Given the description of an element on the screen output the (x, y) to click on. 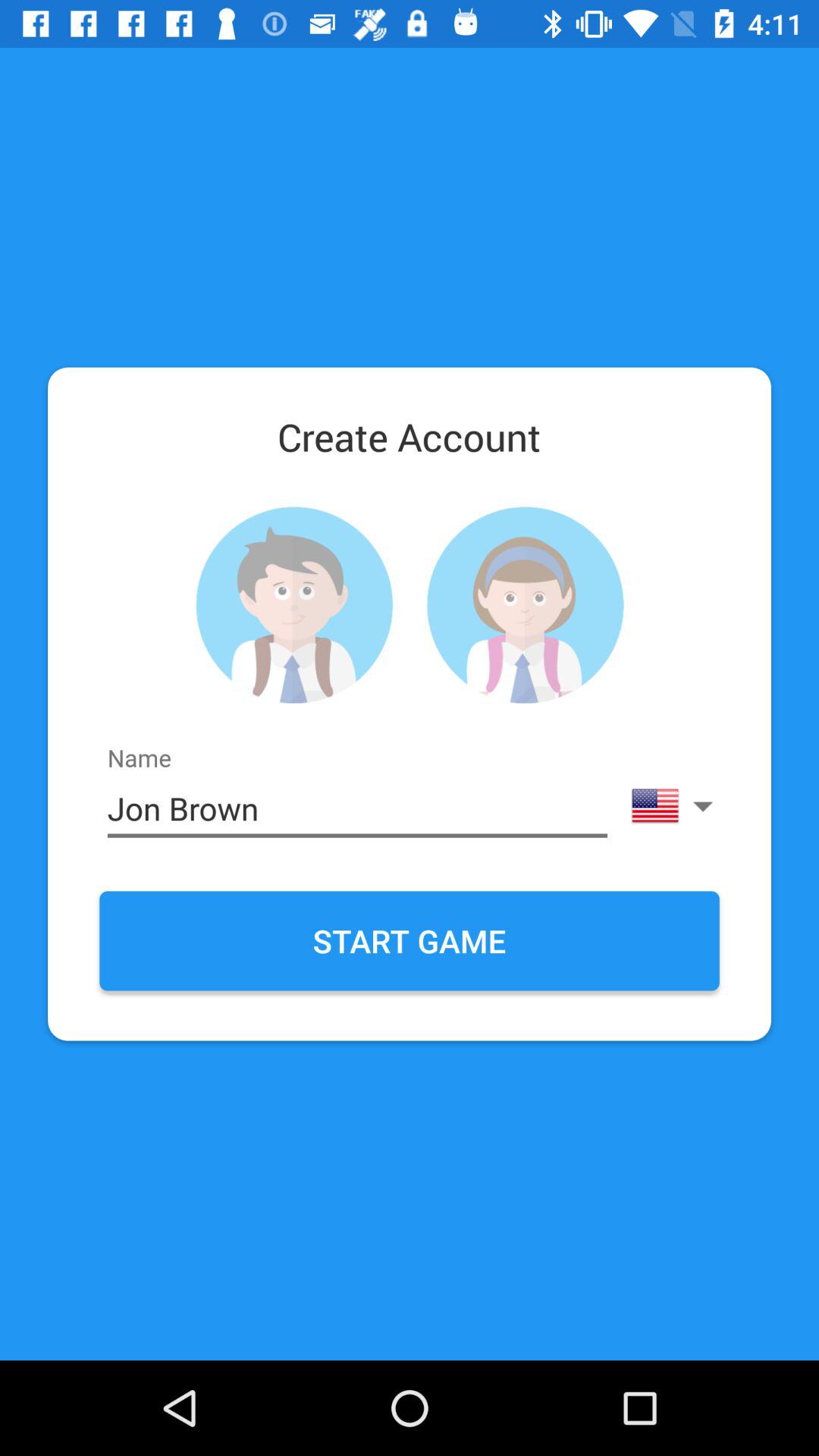
identify as female (524, 605)
